Given the description of an element on the screen output the (x, y) to click on. 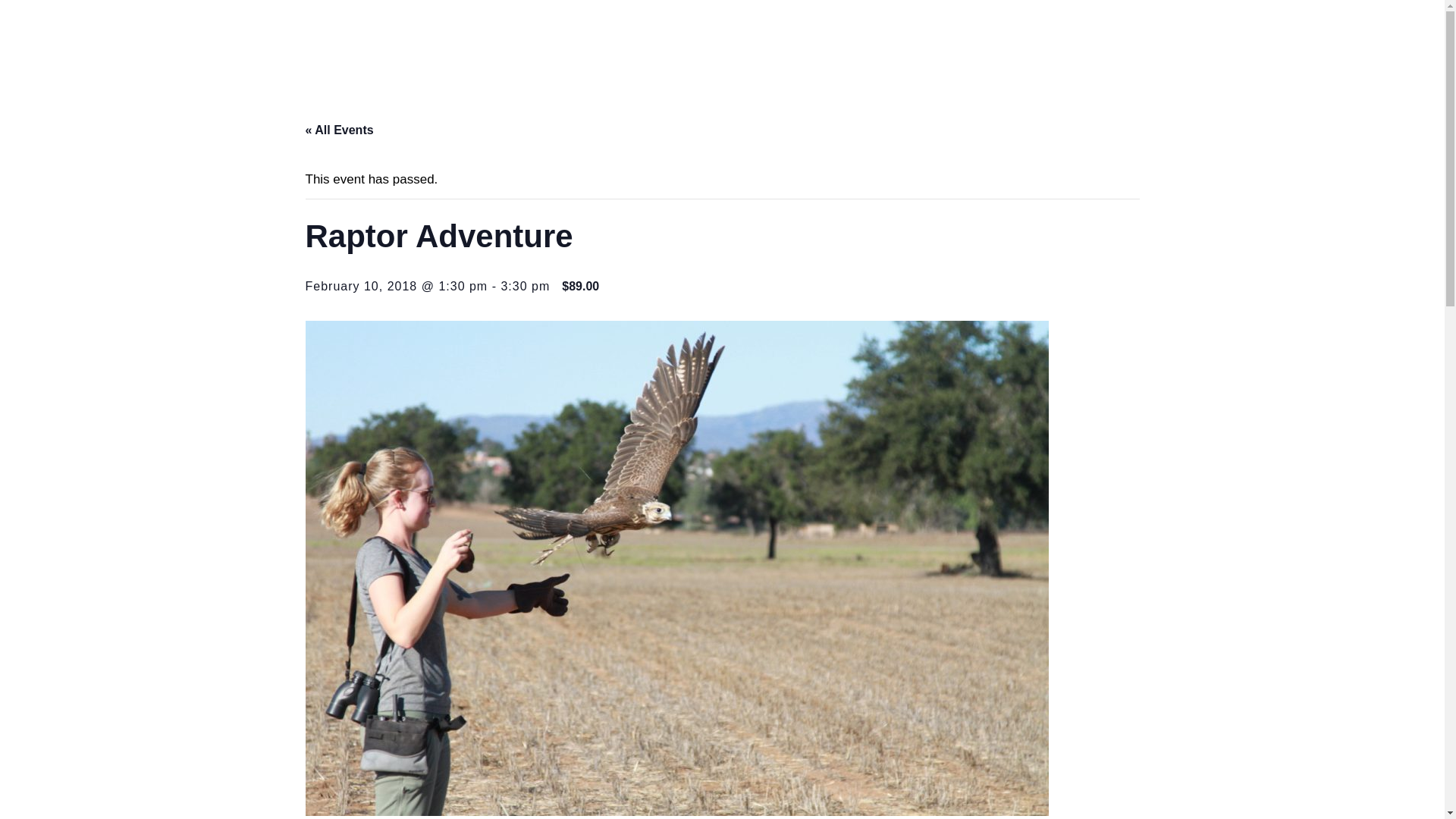
ABOUT US (577, 38)
PODCAST (969, 38)
VISIT US (1101, 38)
EDUCATION PROGRAMS (850, 38)
TRAINING RESOURCES (695, 38)
